Given the description of an element on the screen output the (x, y) to click on. 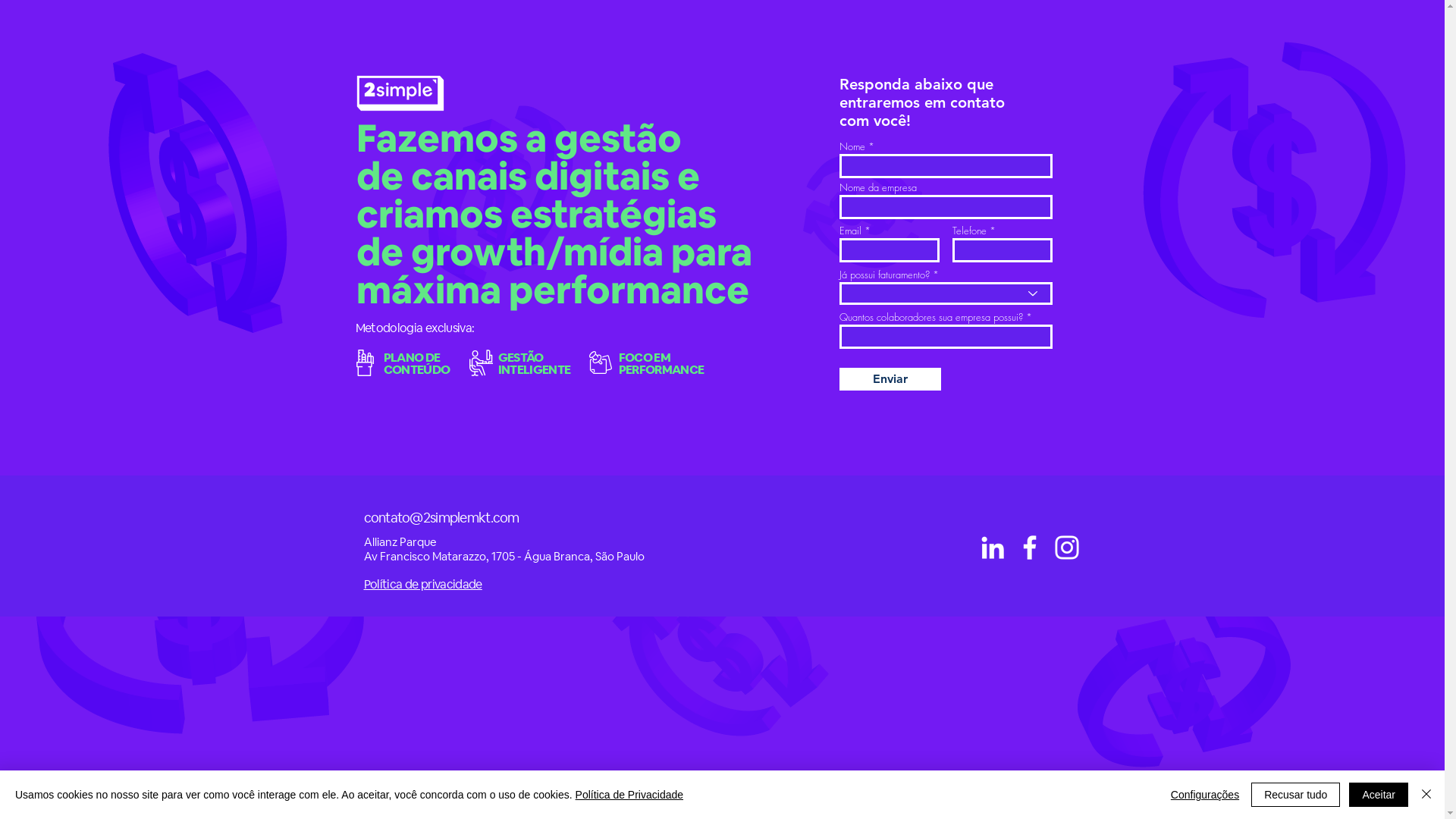
contato@2simplemkt.com Element type: text (441, 517)
Recusar tudo Element type: text (1295, 794)
Aceitar Element type: text (1378, 794)
Enviar Element type: text (889, 378)
